Given the description of an element on the screen output the (x, y) to click on. 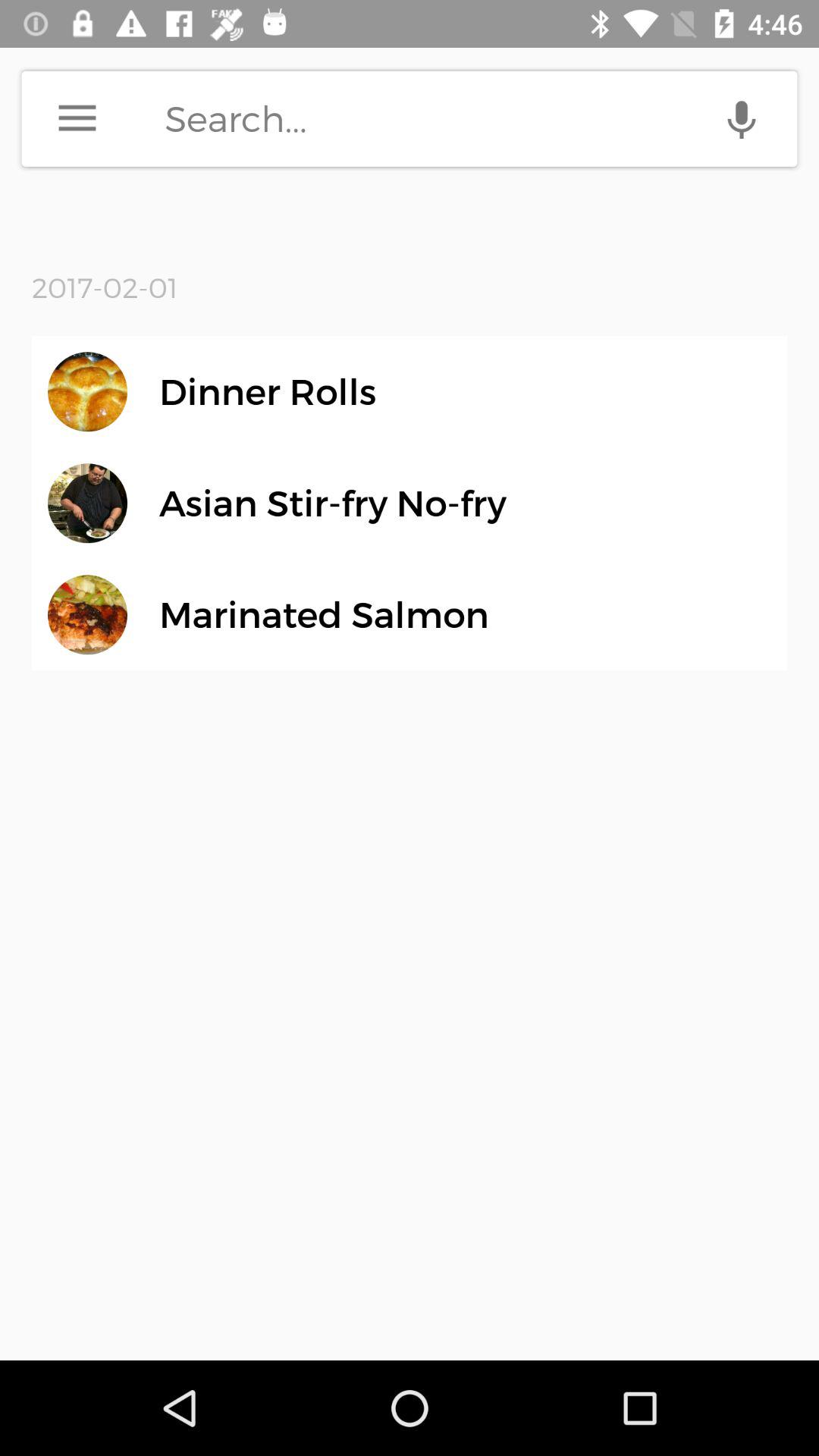
menu (77, 118)
